Given the description of an element on the screen output the (x, y) to click on. 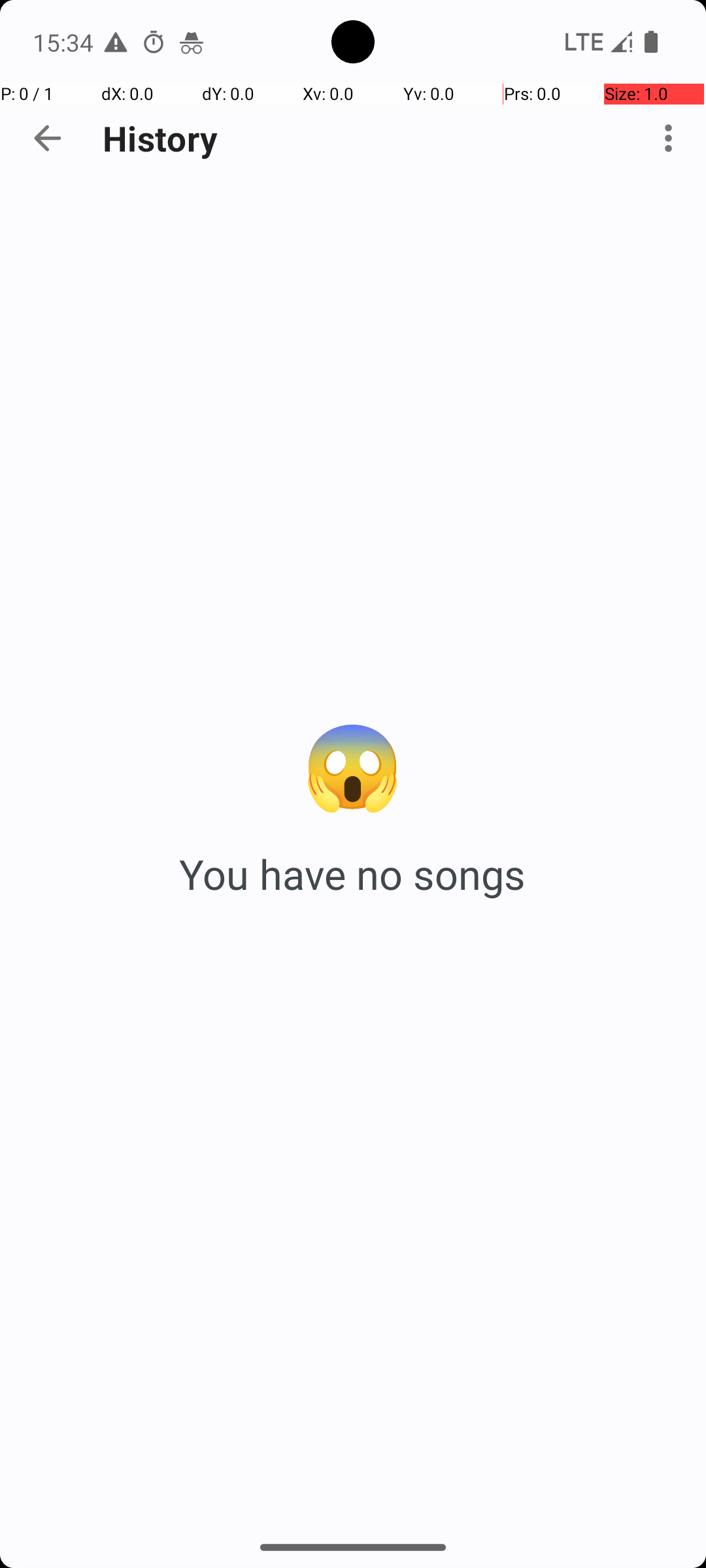
😱 Element type: android.widget.TextView (352, 763)
You have no songs Element type: android.widget.TextView (352, 873)
